Given the description of an element on the screen output the (x, y) to click on. 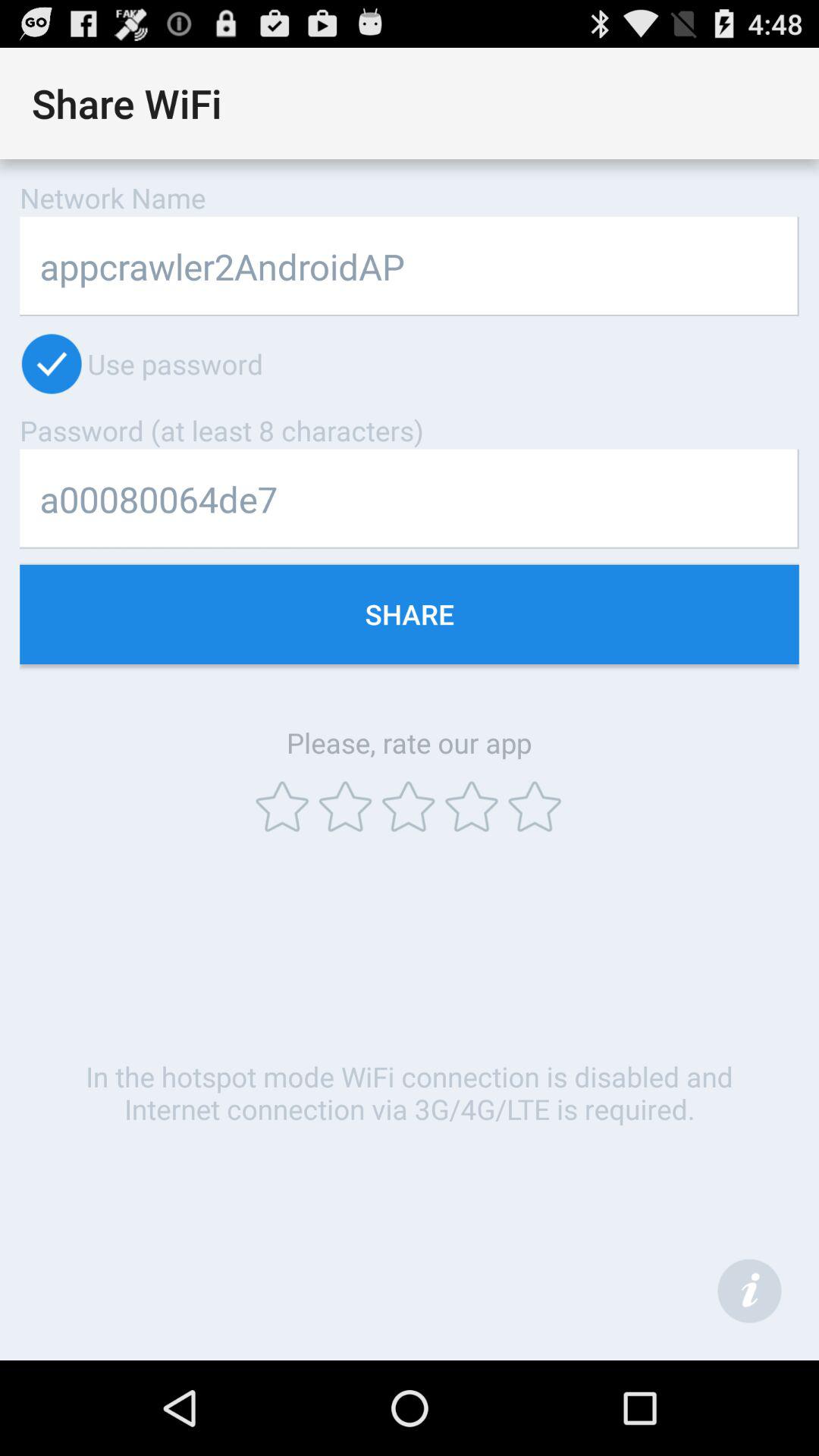
press item above share item (409, 498)
